Given the description of an element on the screen output the (x, y) to click on. 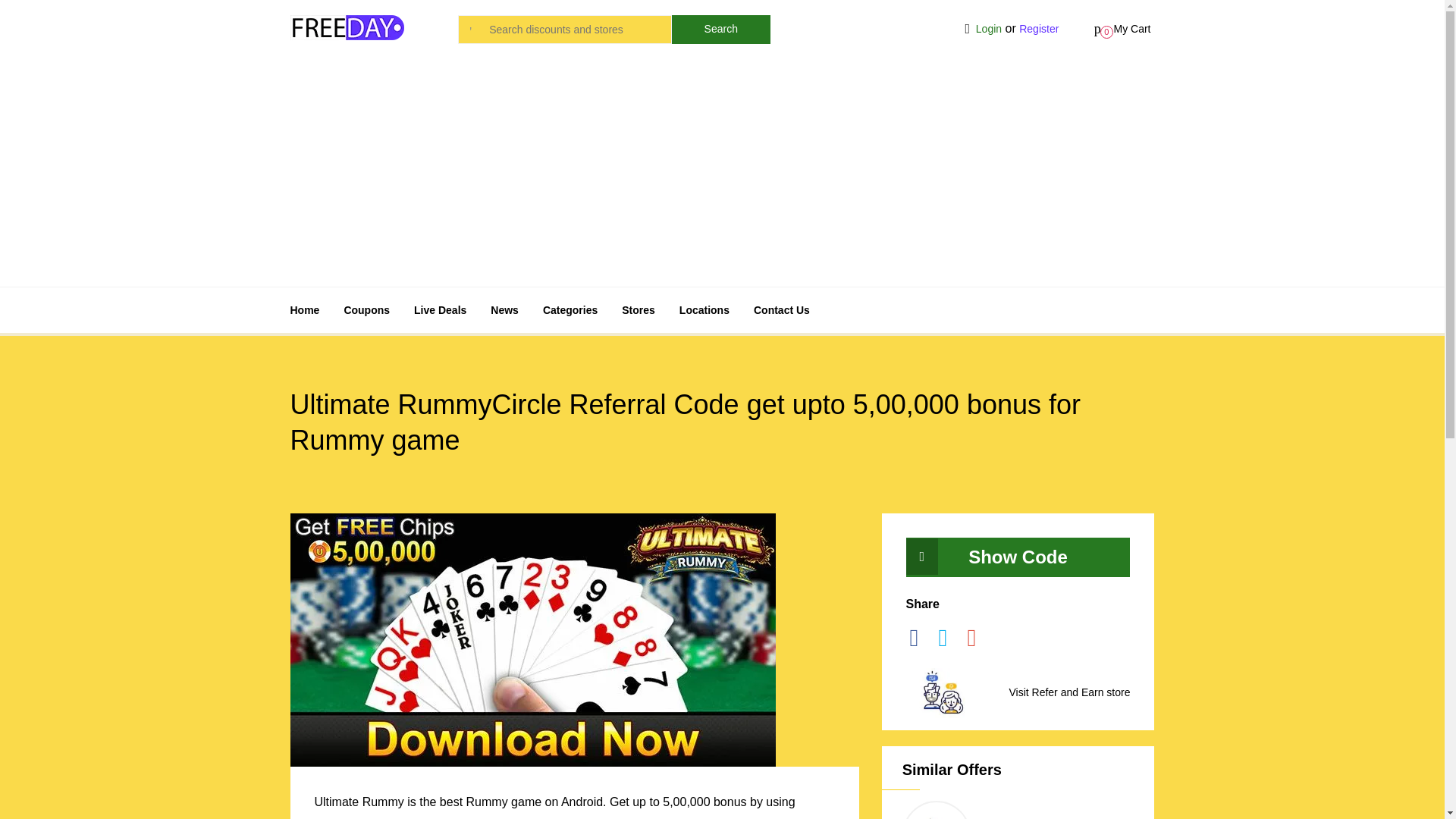
Locations (704, 309)
Locations (704, 309)
Stores (638, 309)
Categories (569, 309)
Home (303, 309)
Live Deals (1122, 28)
Advertisement (439, 309)
News (366, 309)
